Given the description of an element on the screen output the (x, y) to click on. 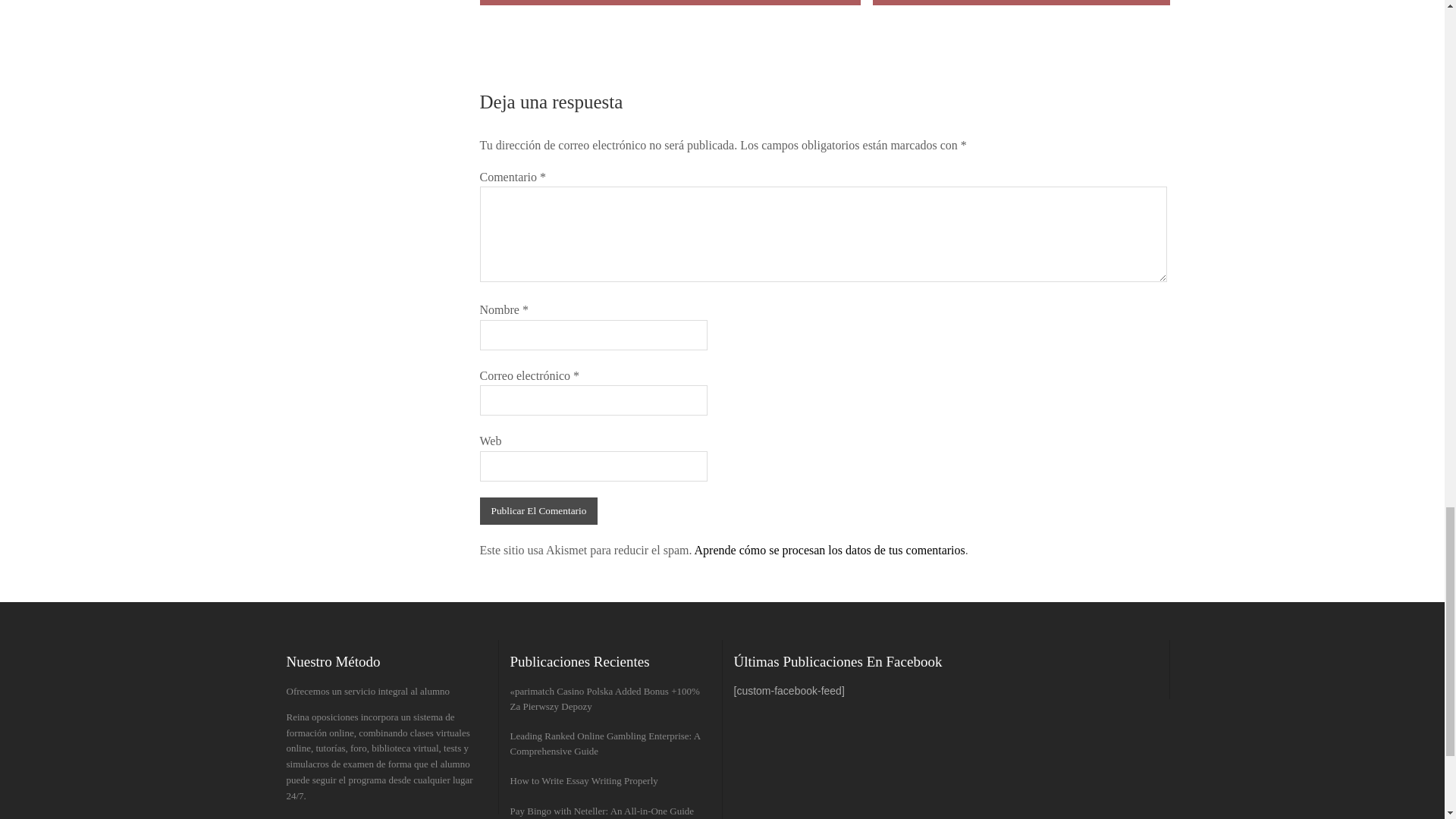
Publicar el comentario (537, 510)
Publicar el comentario (537, 510)
Pay Bingo with Neteller: An All-in-One Guide (601, 811)
How to Write Essay Writing Properly (583, 780)
